Given the description of an element on the screen output the (x, y) to click on. 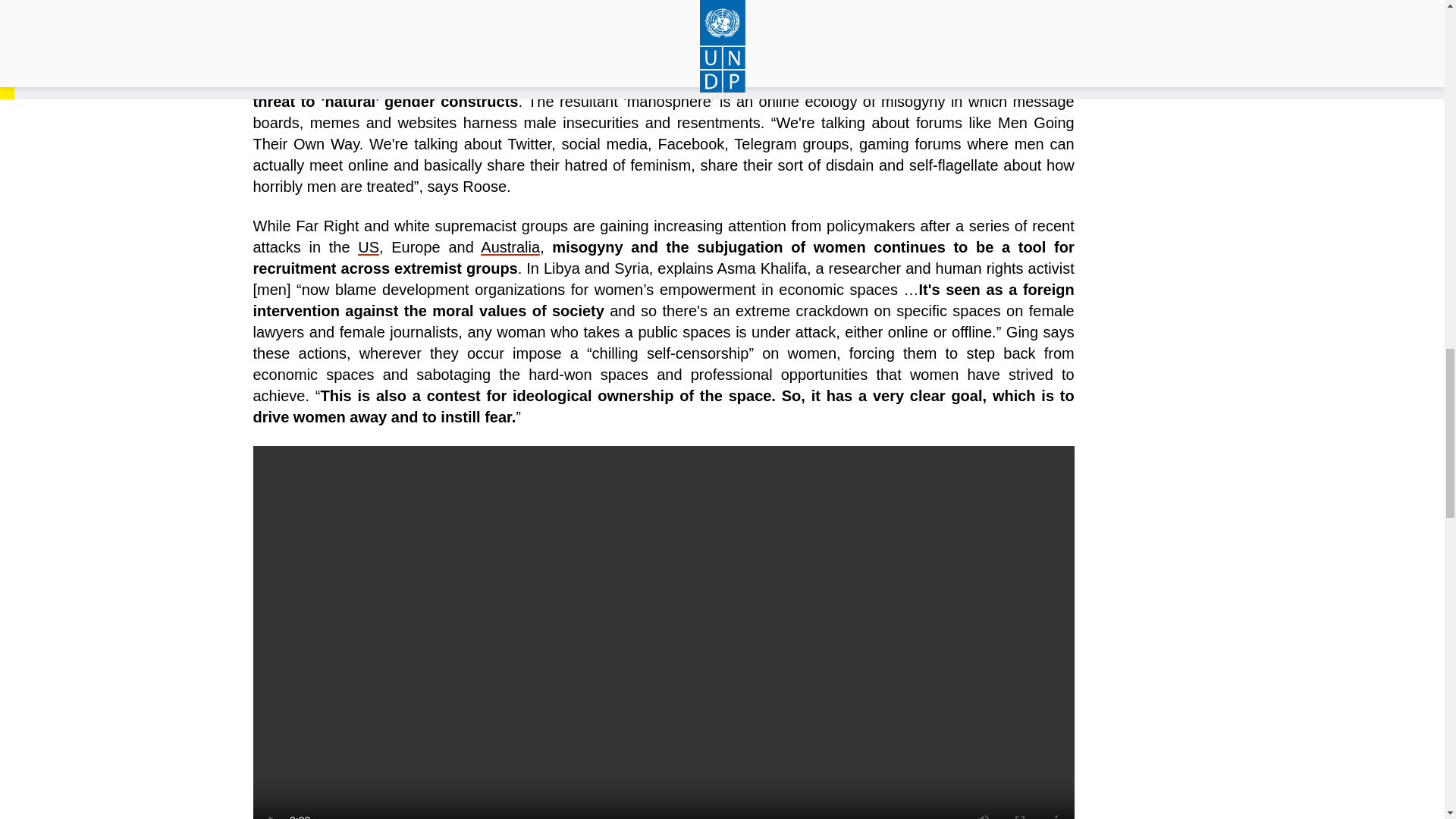
US (368, 247)
Australia (510, 247)
